Given the description of an element on the screen output the (x, y) to click on. 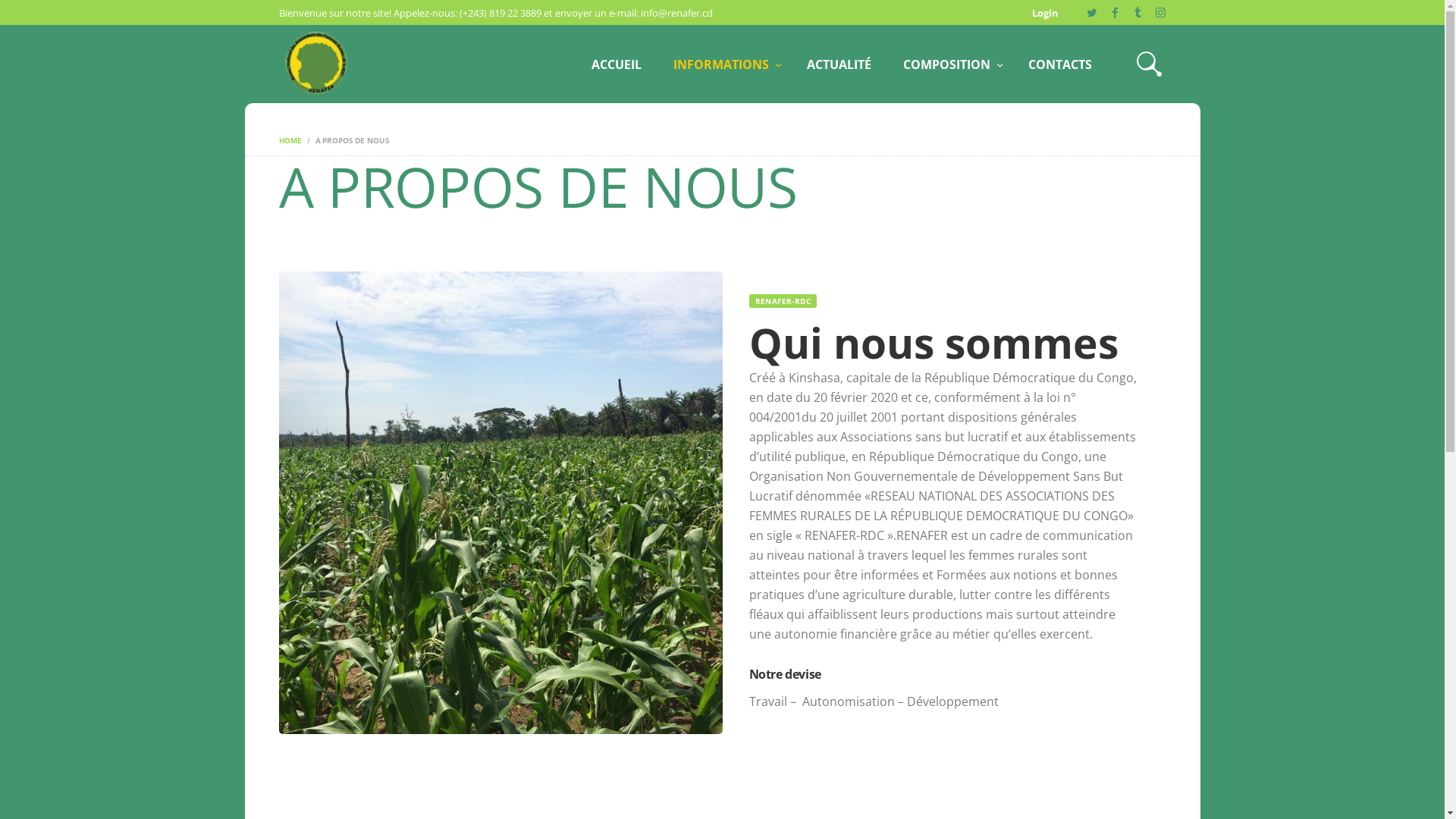
INFORMATIONS Element type: text (723, 64)
Login Element type: text (1043, 11)
ACCUEIL Element type: text (616, 64)
HOME Element type: text (290, 140)
COMPOSITION Element type: text (949, 64)
CONTACTS Element type: text (1059, 64)
